Given the description of an element on the screen output the (x, y) to click on. 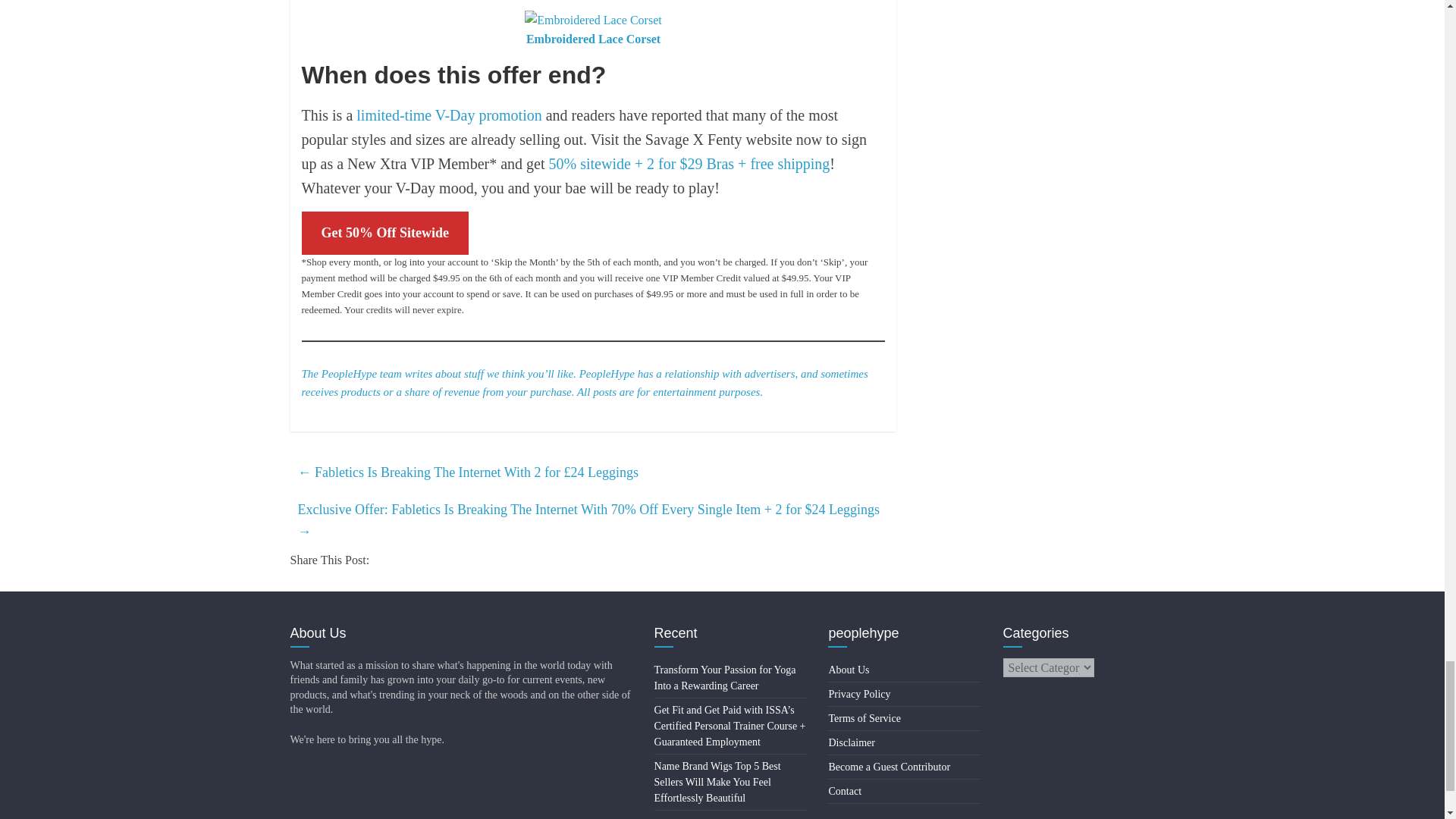
limited-time V-Day promotion (448, 115)
Embroidered Lace Corset (593, 38)
